Given the description of an element on the screen output the (x, y) to click on. 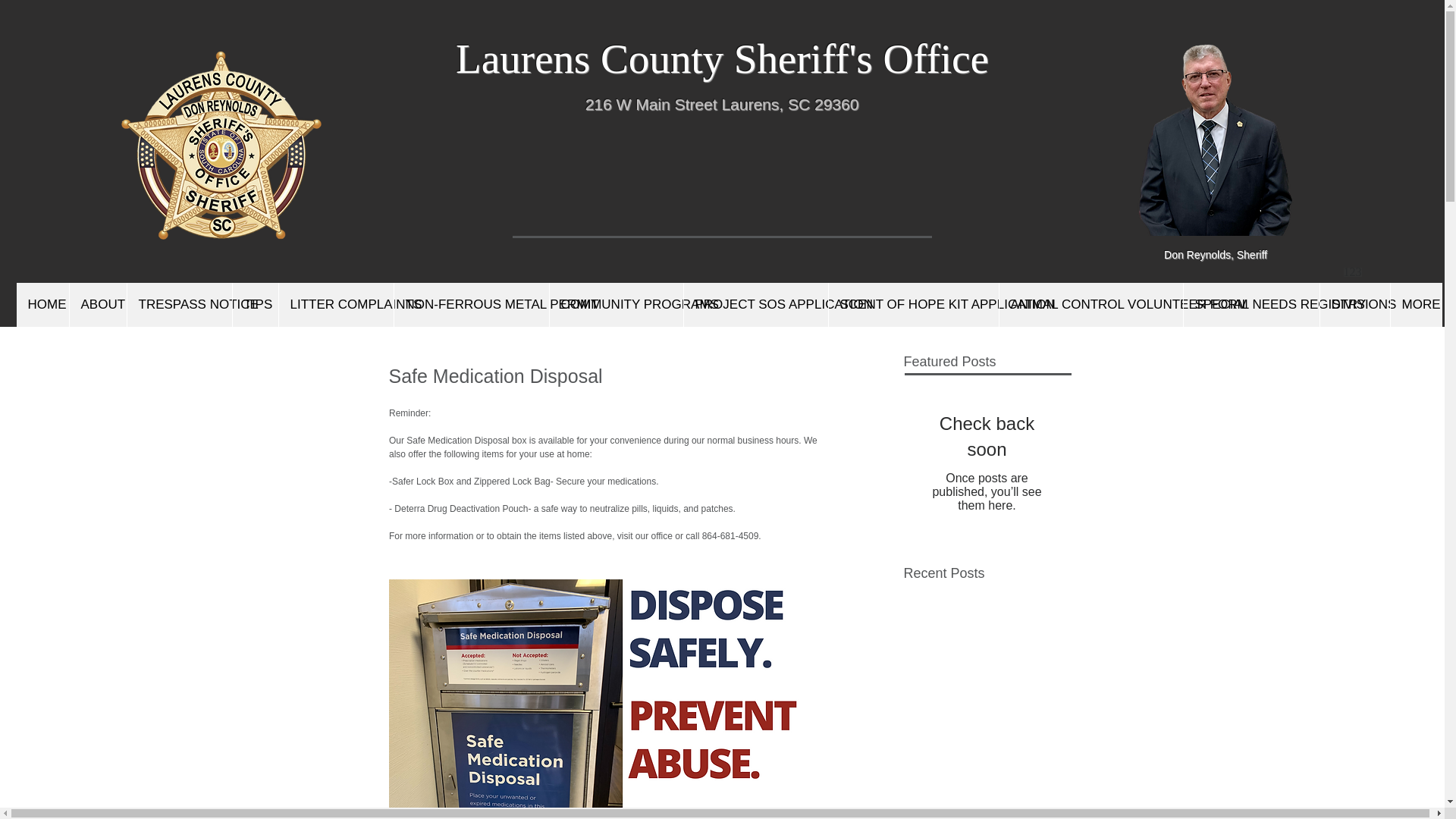
COMMUNITY PROGRAMS (615, 304)
SCENT OF HOPE KIT APPLICATION (913, 304)
123 (1352, 271)
TIPS (254, 304)
HOME (42, 304)
LITTER COMPLAINTS (335, 304)
TRESPASS NOTICE (178, 304)
NON-FERROUS METAL PERMIT (470, 304)
SPECIAL NEEDS REGISTRY (1250, 304)
PROJECT SOS APPLICATION (754, 304)
ANIMAL CONTROL VOLUNTEER FORM (1089, 304)
